Given the description of an element on the screen output the (x, y) to click on. 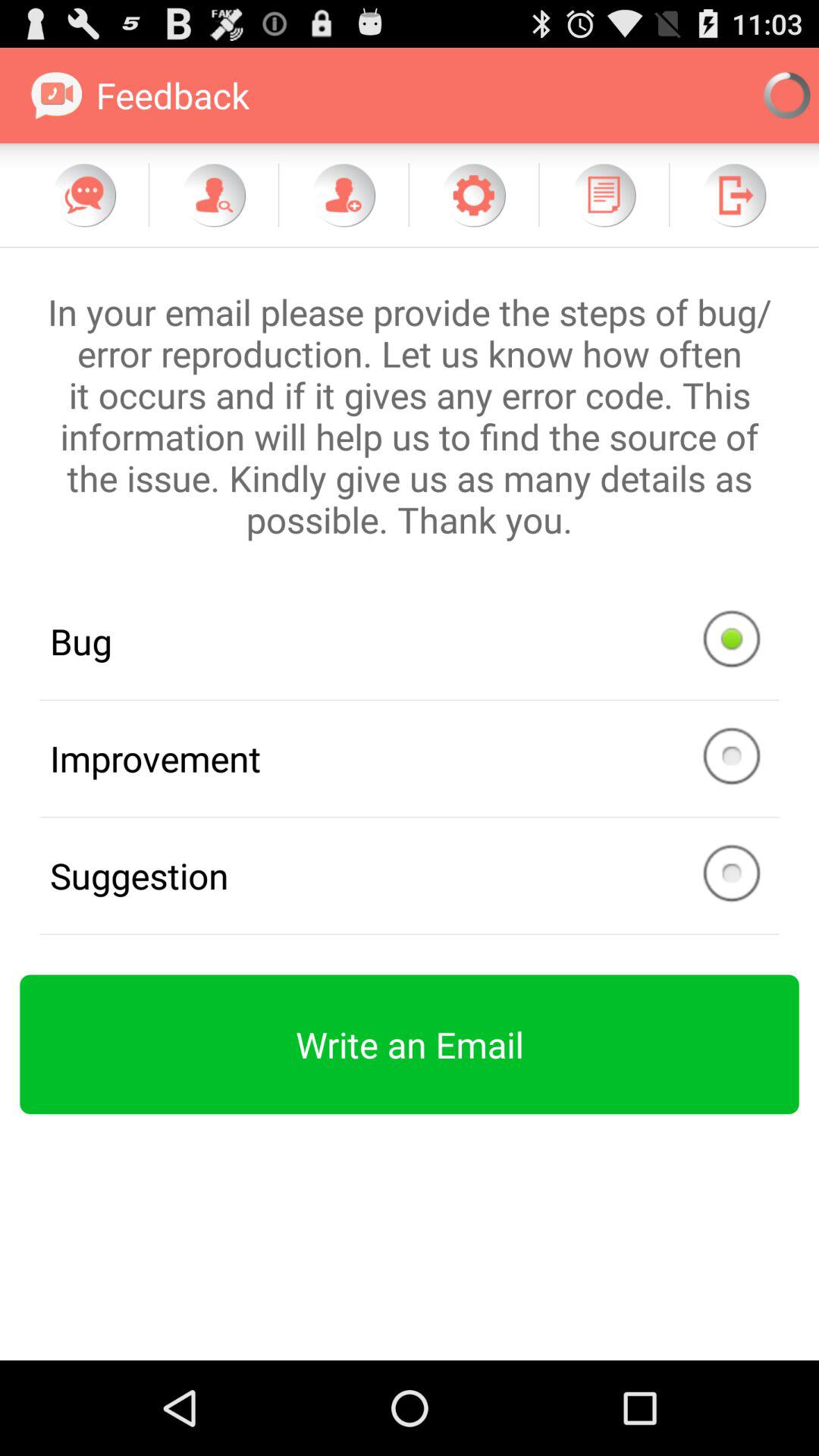
search contact (213, 194)
